Given the description of an element on the screen output the (x, y) to click on. 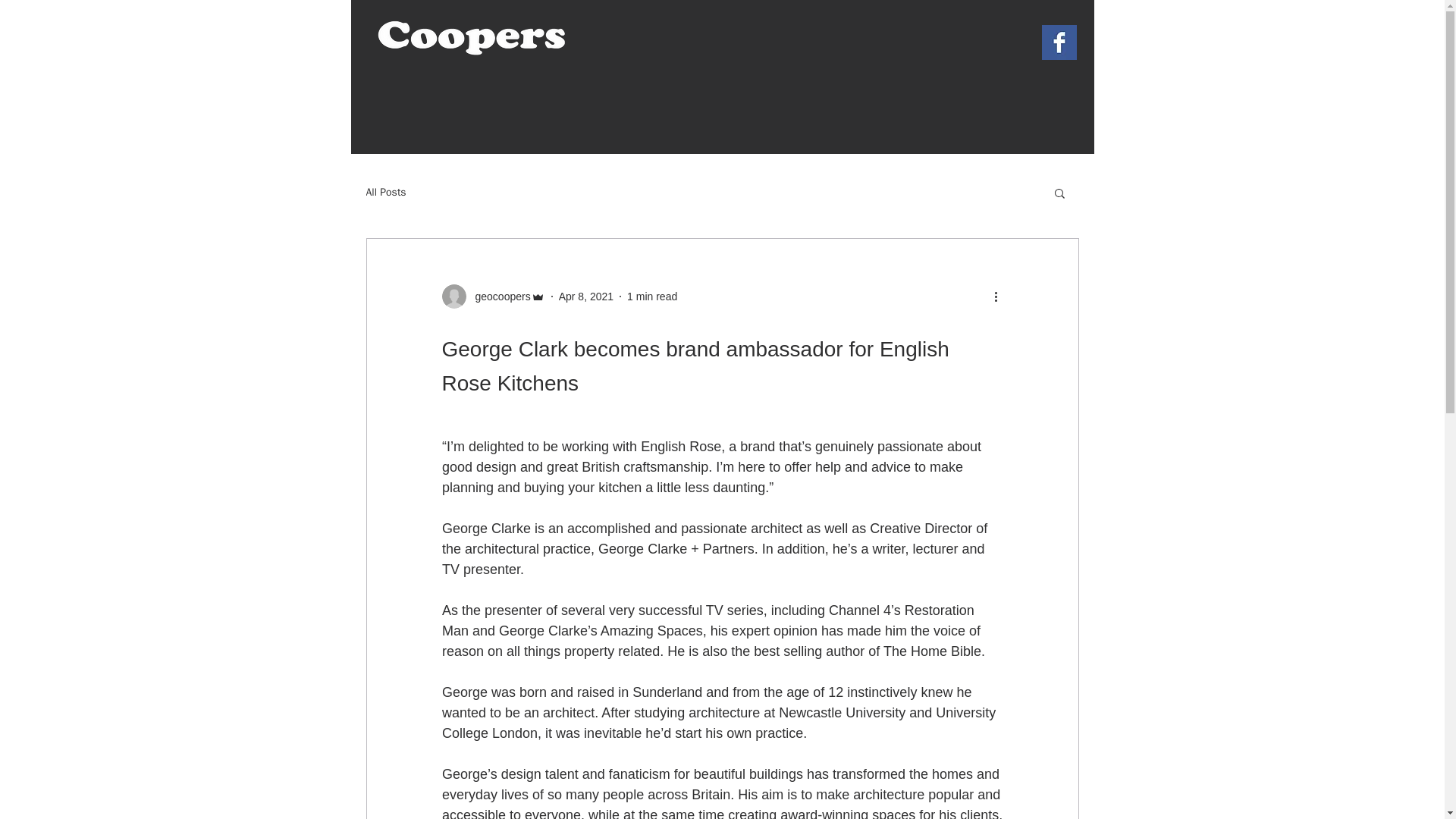
1 min read (652, 295)
Apr 8, 2021 (585, 295)
All Posts (385, 192)
geocoopers (492, 296)
geocoopers (497, 295)
